Given the description of an element on the screen output the (x, y) to click on. 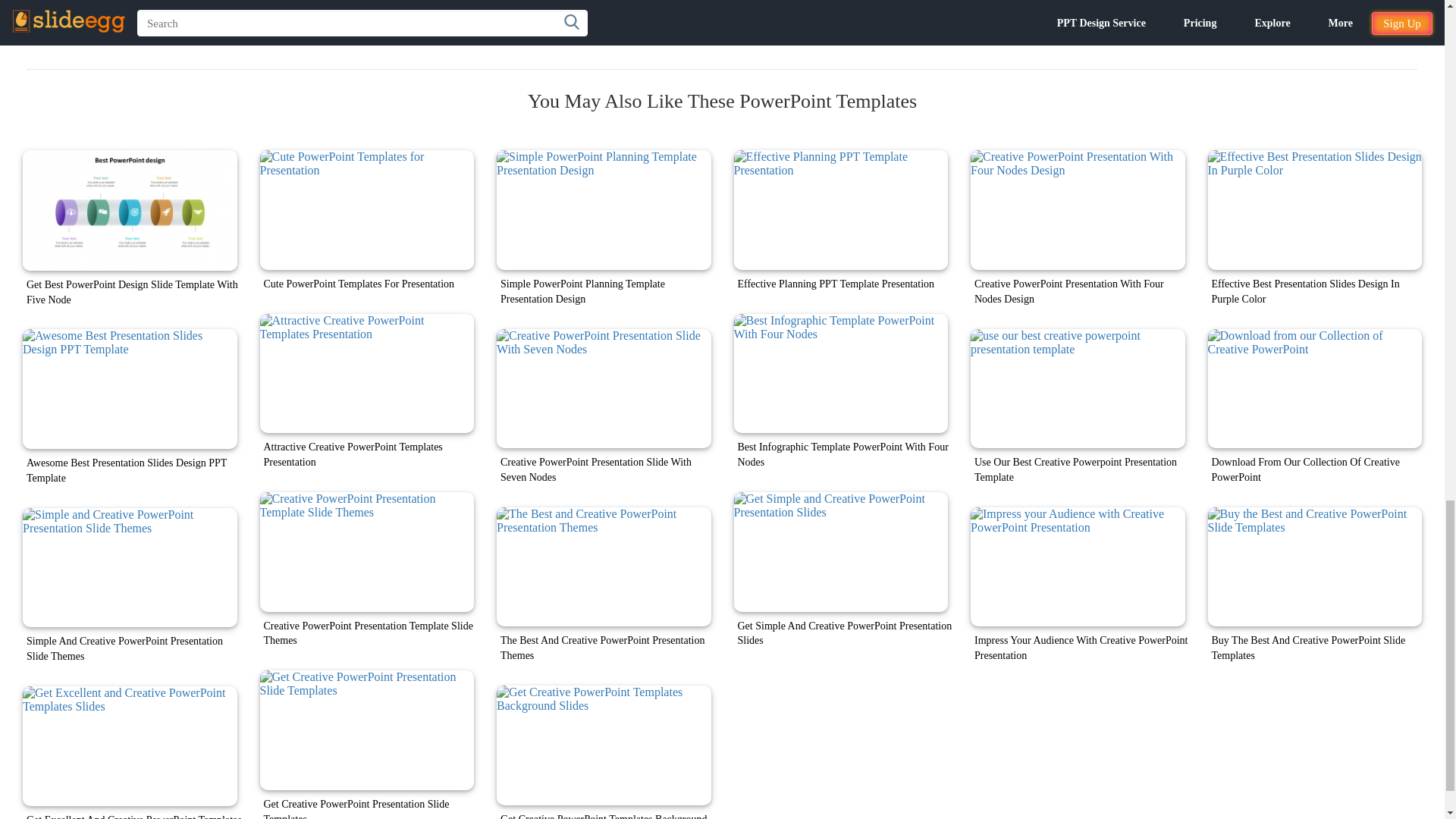
Cute PowerPoint Templates for Presentation (366, 209)
Attractive Creative PowerPoint Templates Presentation (366, 373)
The Best and Creative PowerPoint Presentation Themes (603, 566)
Get Creative PowerPoint Templates Background Slides (603, 745)
Simple PowerPoint Planning Template Presentation Design (603, 209)
Best Infographic Template PowerPoint With Four Nodes (841, 373)
Get Best PowerPoint Design Slide Template With Five Node (130, 210)
Get Excellent and Creative PowerPoint Templates Slides (130, 745)
Creative PowerPoint Presentation With Four Nodes Design (1078, 209)
Effective Planning PPT Template Presentation (841, 209)
